Given the description of an element on the screen output the (x, y) to click on. 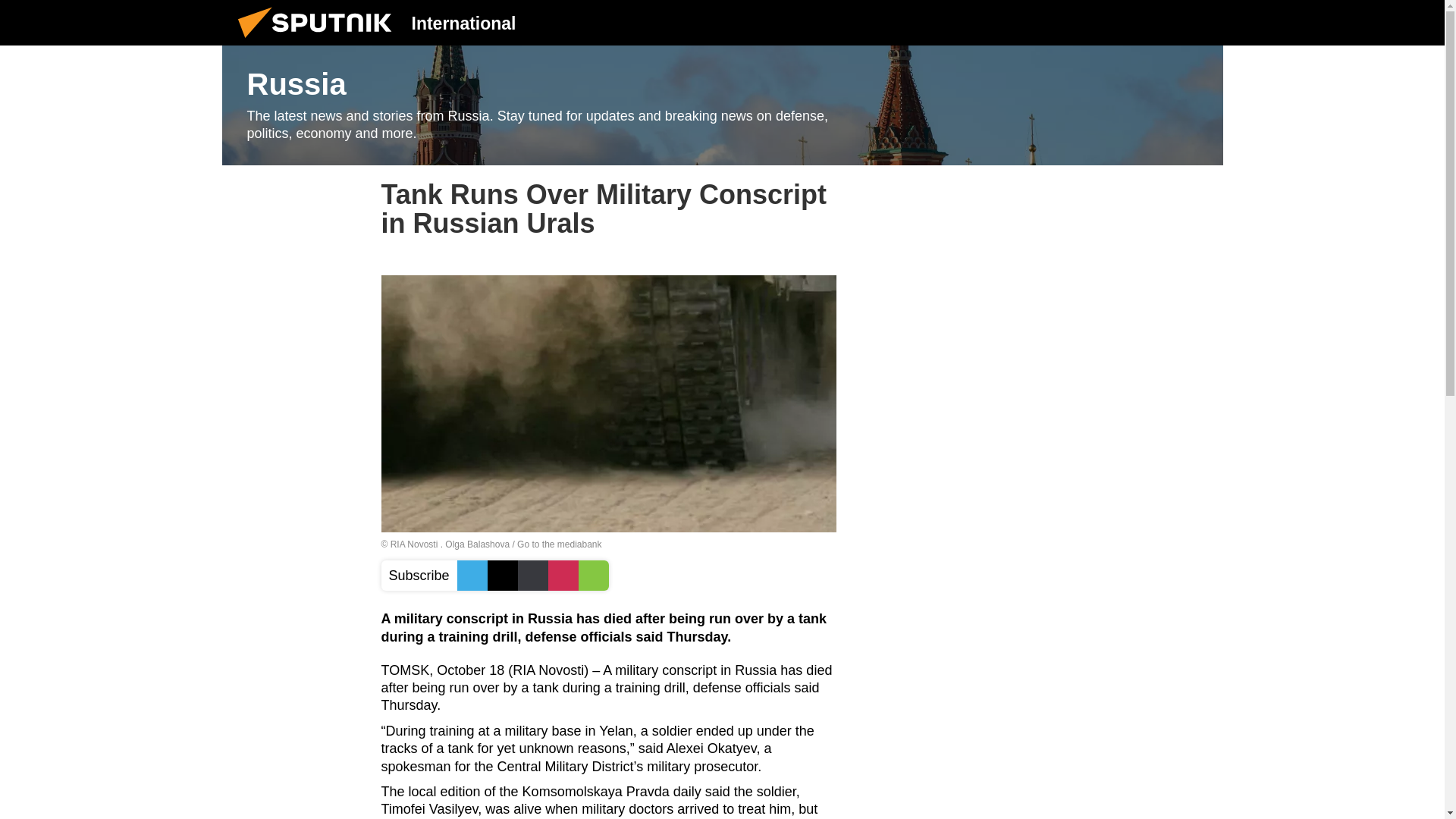
Sputnik International (319, 41)
Chats (1199, 22)
Russia (722, 105)
Authorization (1123, 22)
